Given the description of an element on the screen output the (x, y) to click on. 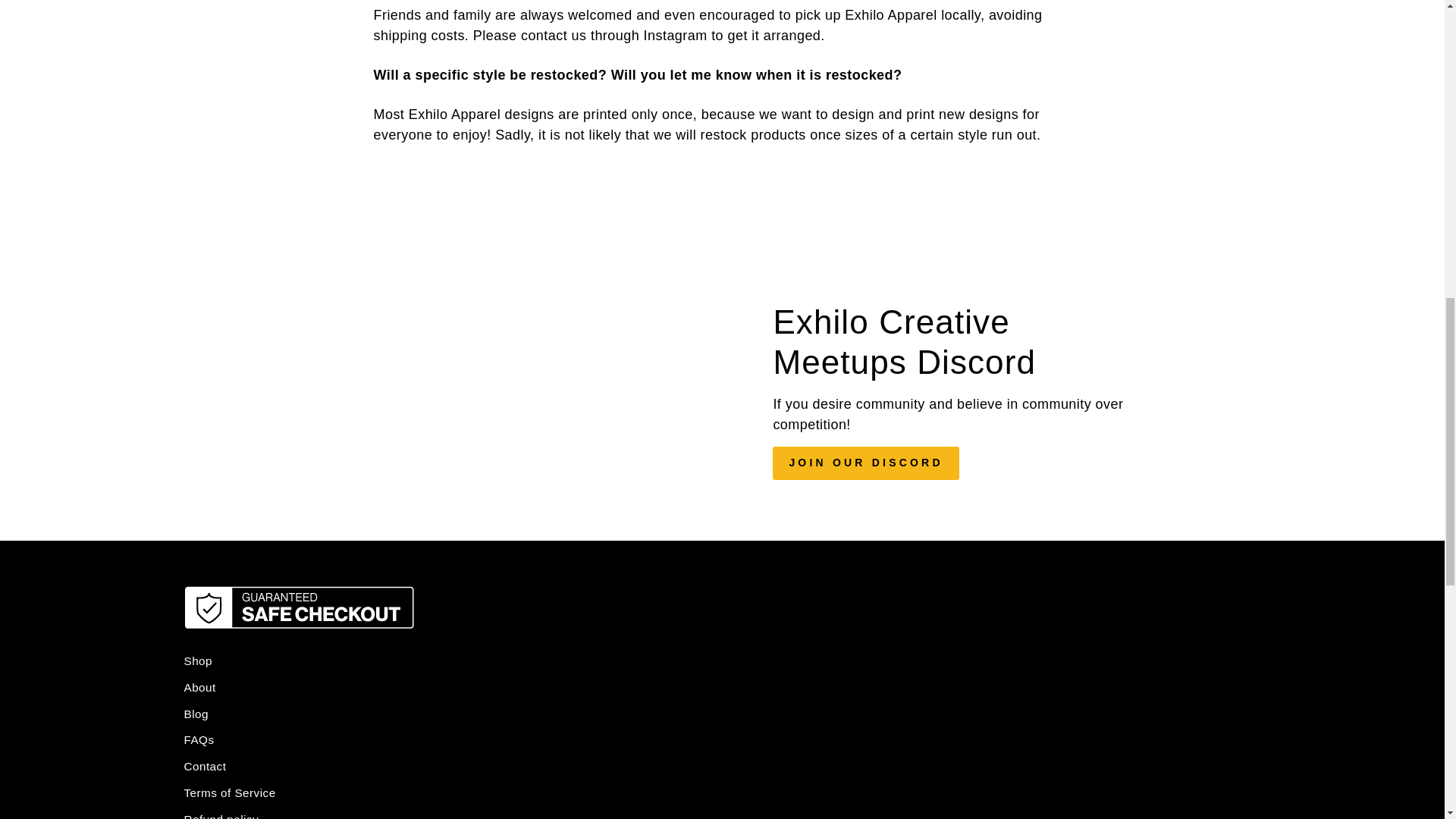
Contact (204, 766)
FAQs (198, 740)
Blog (195, 714)
JOIN OUR DISCORD (865, 462)
About (199, 688)
Terms of Service (229, 793)
Shop (197, 661)
